Given the description of an element on the screen output the (x, y) to click on. 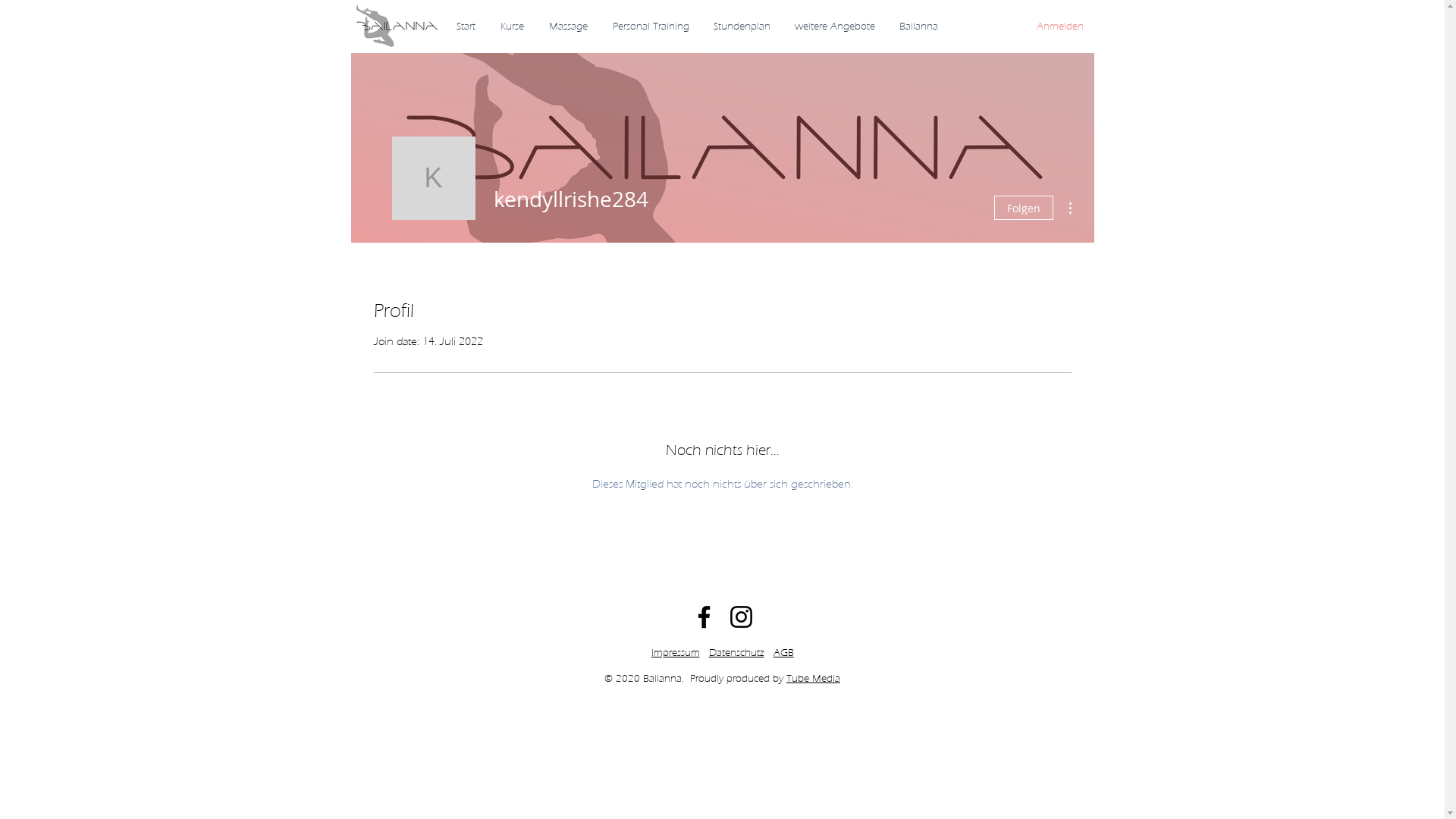
AGB Element type: text (783, 652)
Kurse Element type: text (512, 26)
Impressum Element type: text (674, 652)
Datenschutz Element type: text (735, 652)
Anmelden Element type: text (1059, 26)
Bailanna Element type: text (918, 26)
Folgen Element type: text (1022, 207)
Personal Training Element type: text (650, 26)
Massage Element type: text (568, 26)
Stundenplan Element type: text (740, 26)
Tube Media Element type: text (813, 677)
Start Element type: text (466, 26)
